Given the description of an element on the screen output the (x, y) to click on. 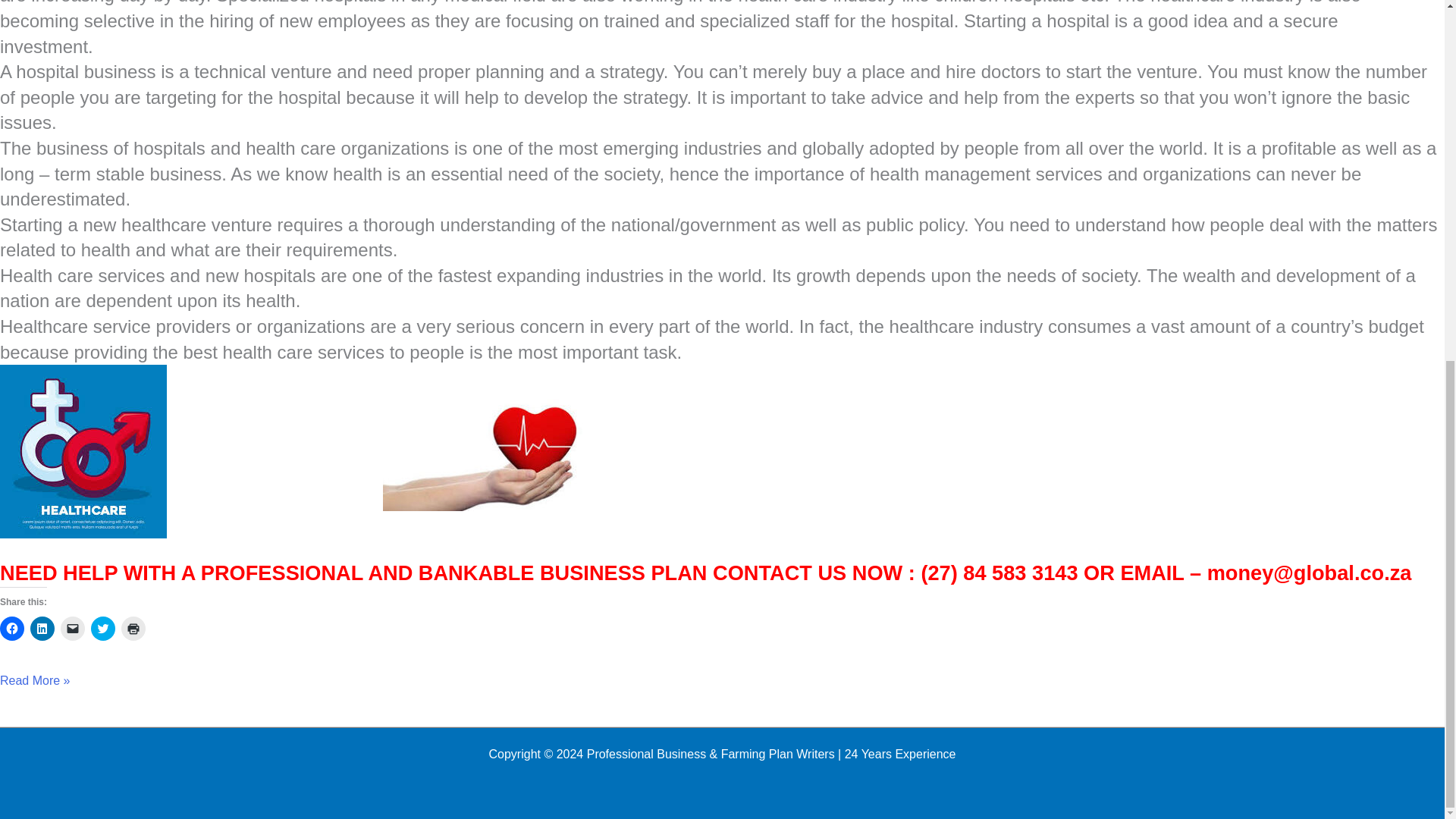
Click to share on Facebook (12, 628)
Click to share on Twitter (102, 628)
Click to email a link to a friend (72, 628)
Click to share on LinkedIn (42, 628)
Click to print (132, 628)
